Given the description of an element on the screen output the (x, y) to click on. 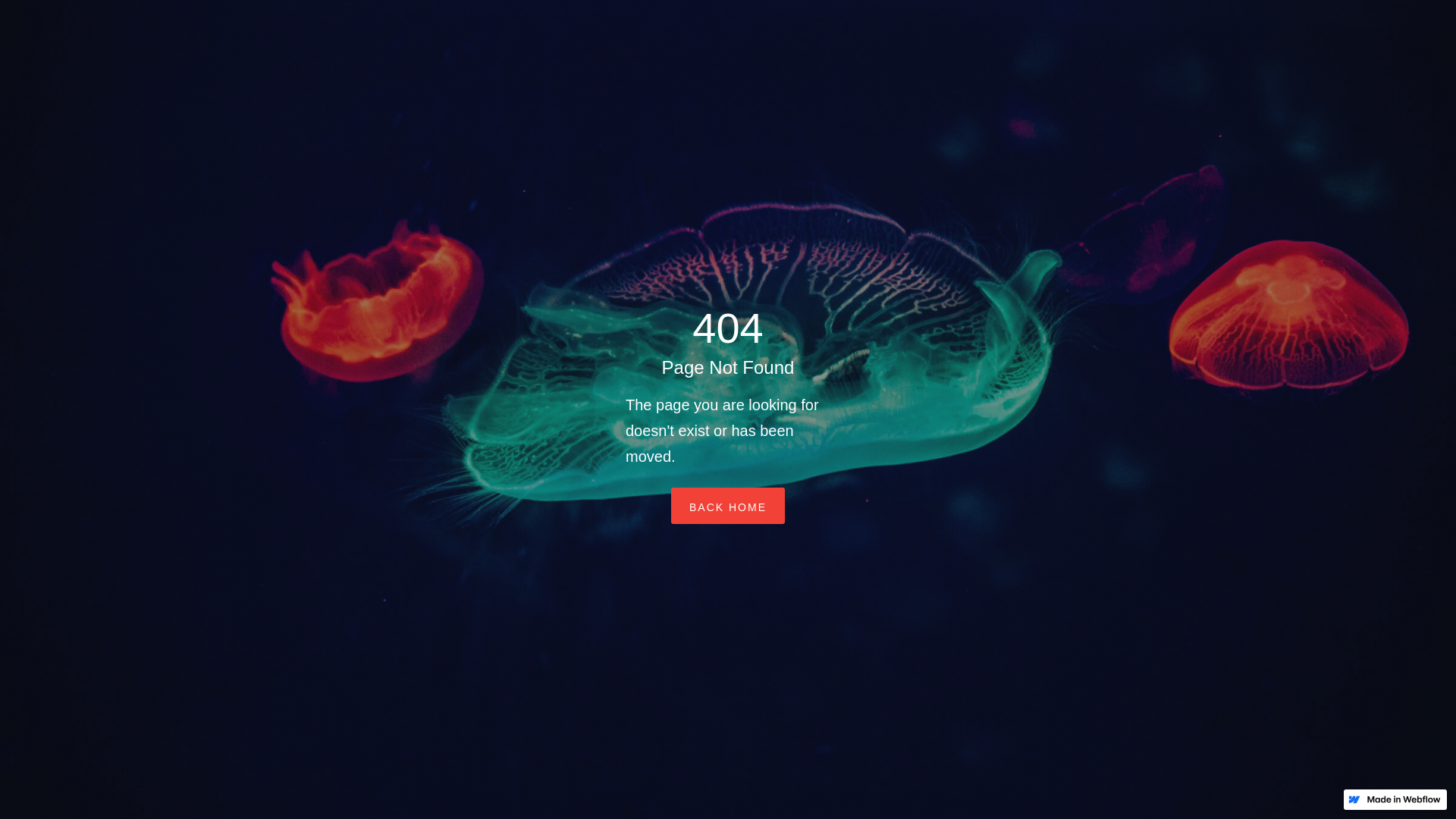
BACK HOME Element type: text (727, 505)
